Given the description of an element on the screen output the (x, y) to click on. 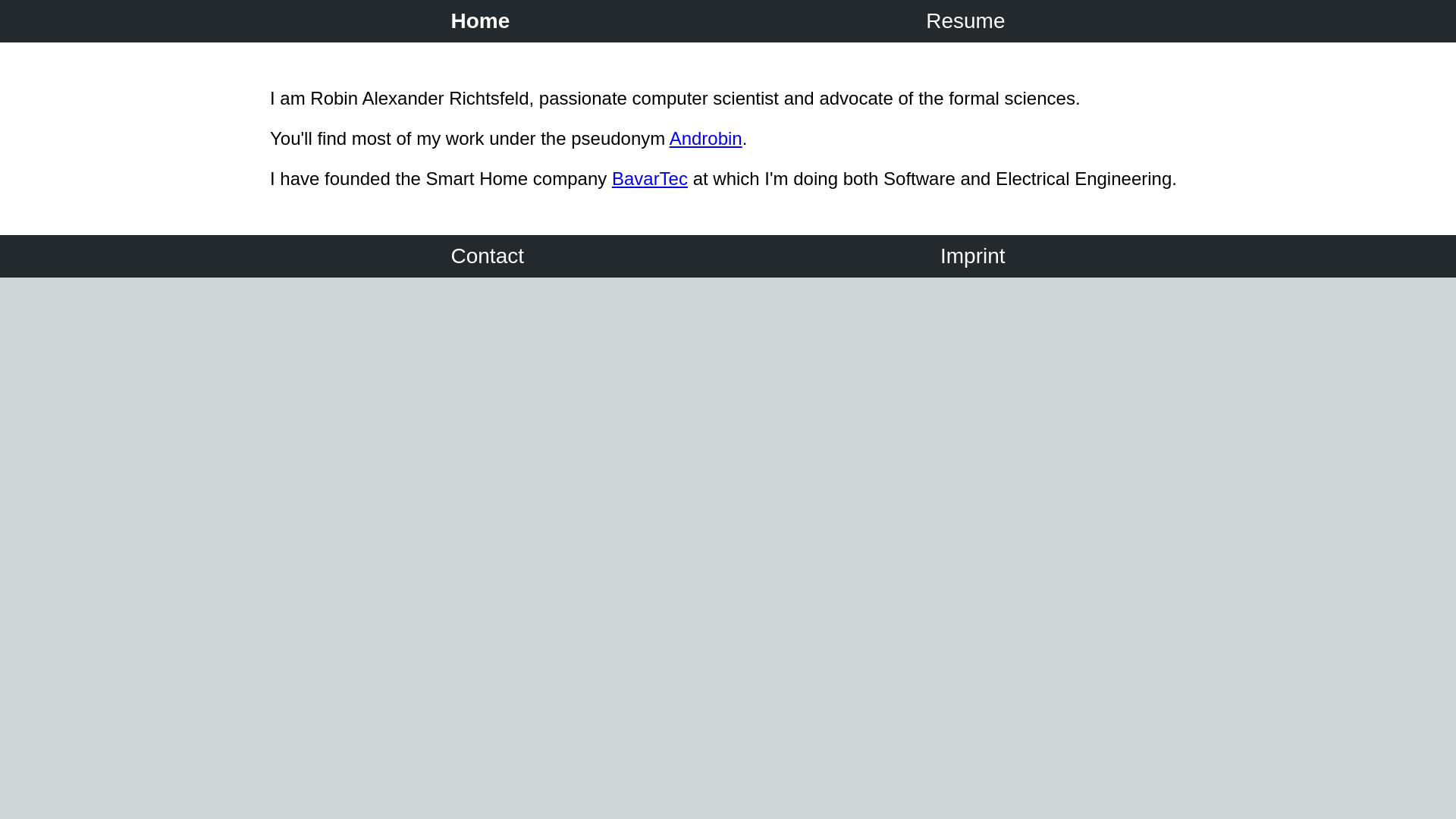
Resume Element type: text (965, 21)
BavarTec Element type: text (649, 178)
Androbin Element type: text (705, 138)
Home Element type: text (480, 21)
Imprint Element type: text (972, 256)
Contact Element type: text (486, 256)
